Given the description of an element on the screen output the (x, y) to click on. 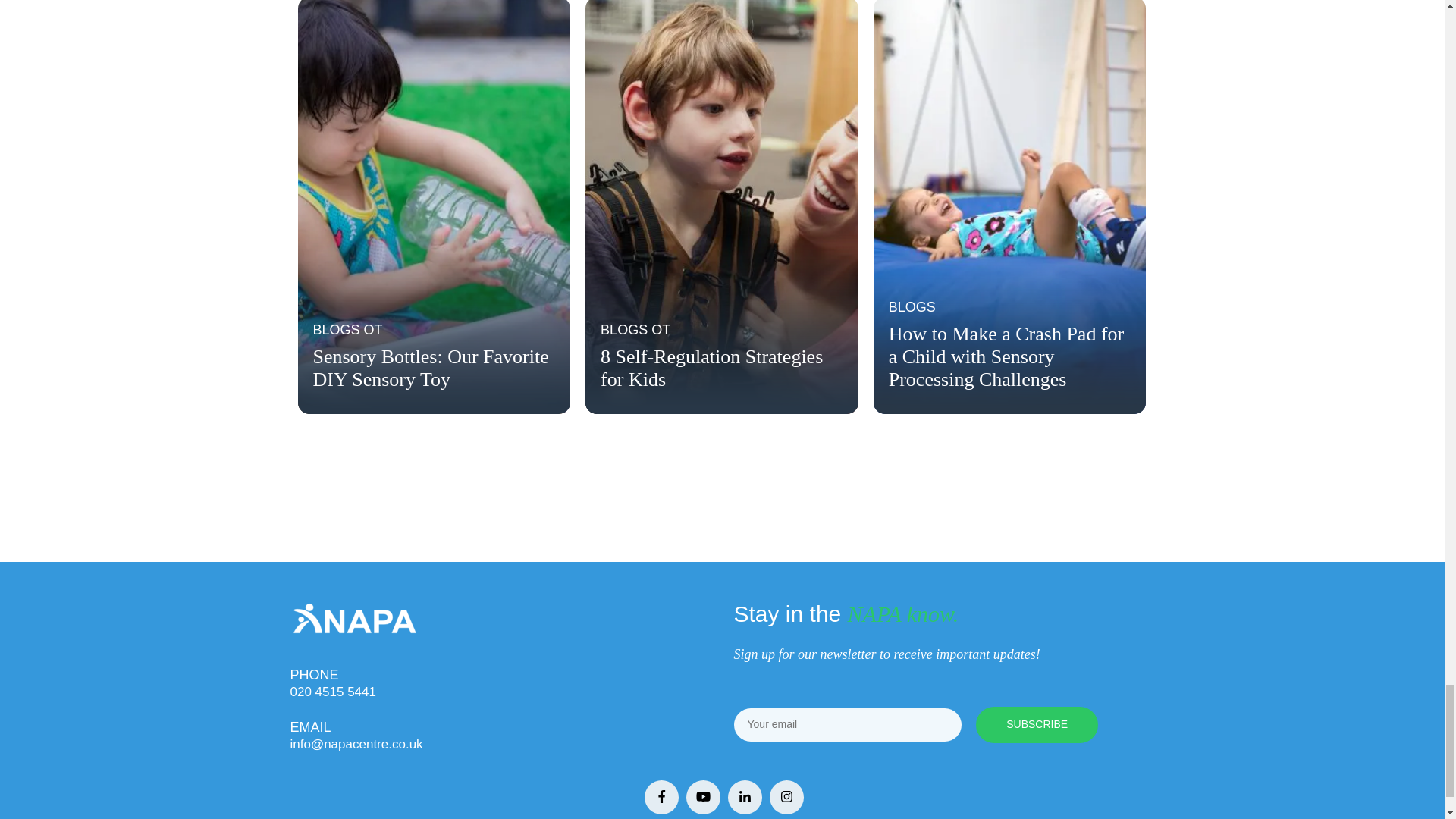
SUBSCRIBE (1036, 724)
